Given the description of an element on the screen output the (x, y) to click on. 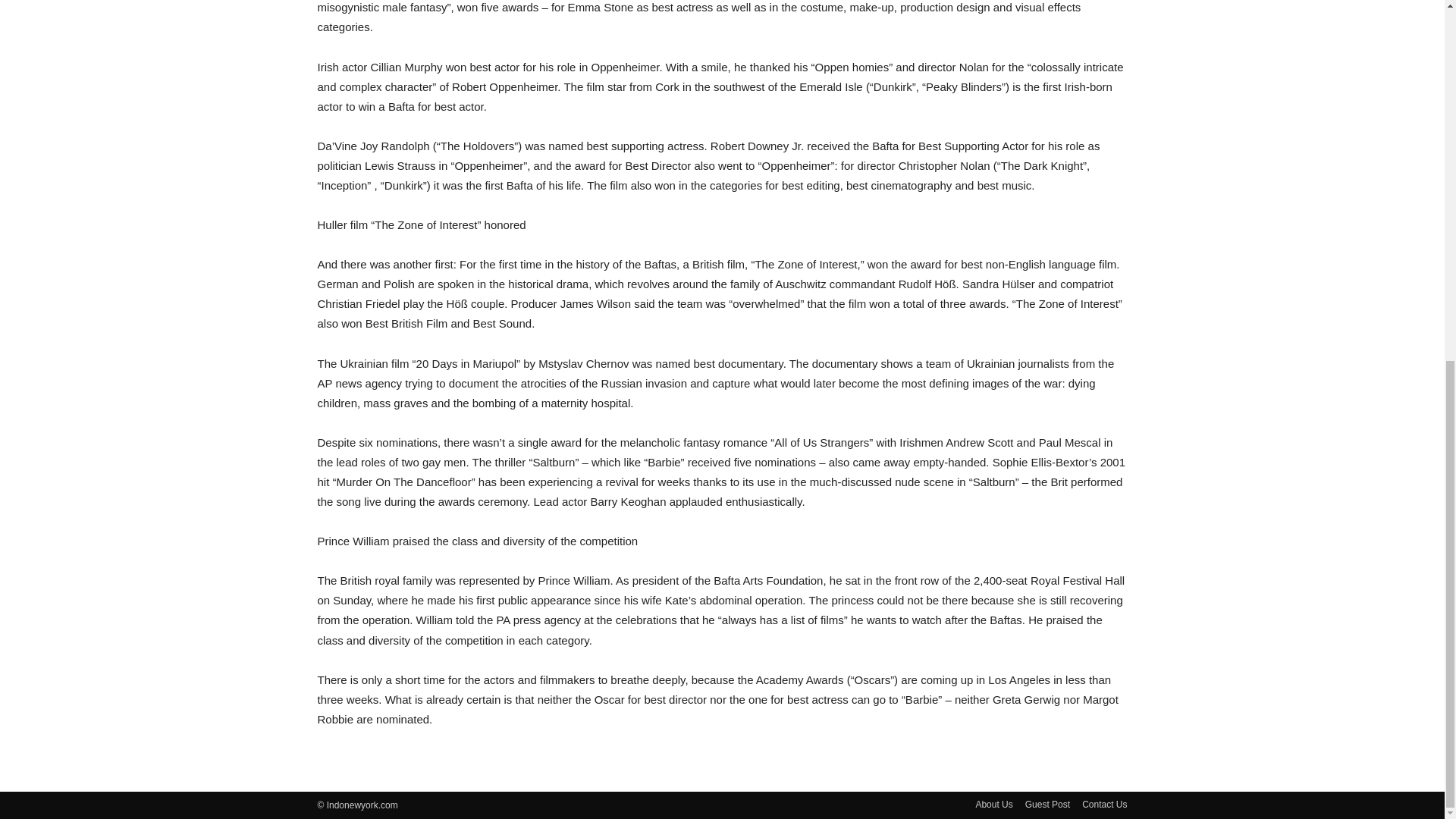
About Us (993, 804)
Contact Us (1103, 804)
Guest Post (1047, 804)
